Given the description of an element on the screen output the (x, y) to click on. 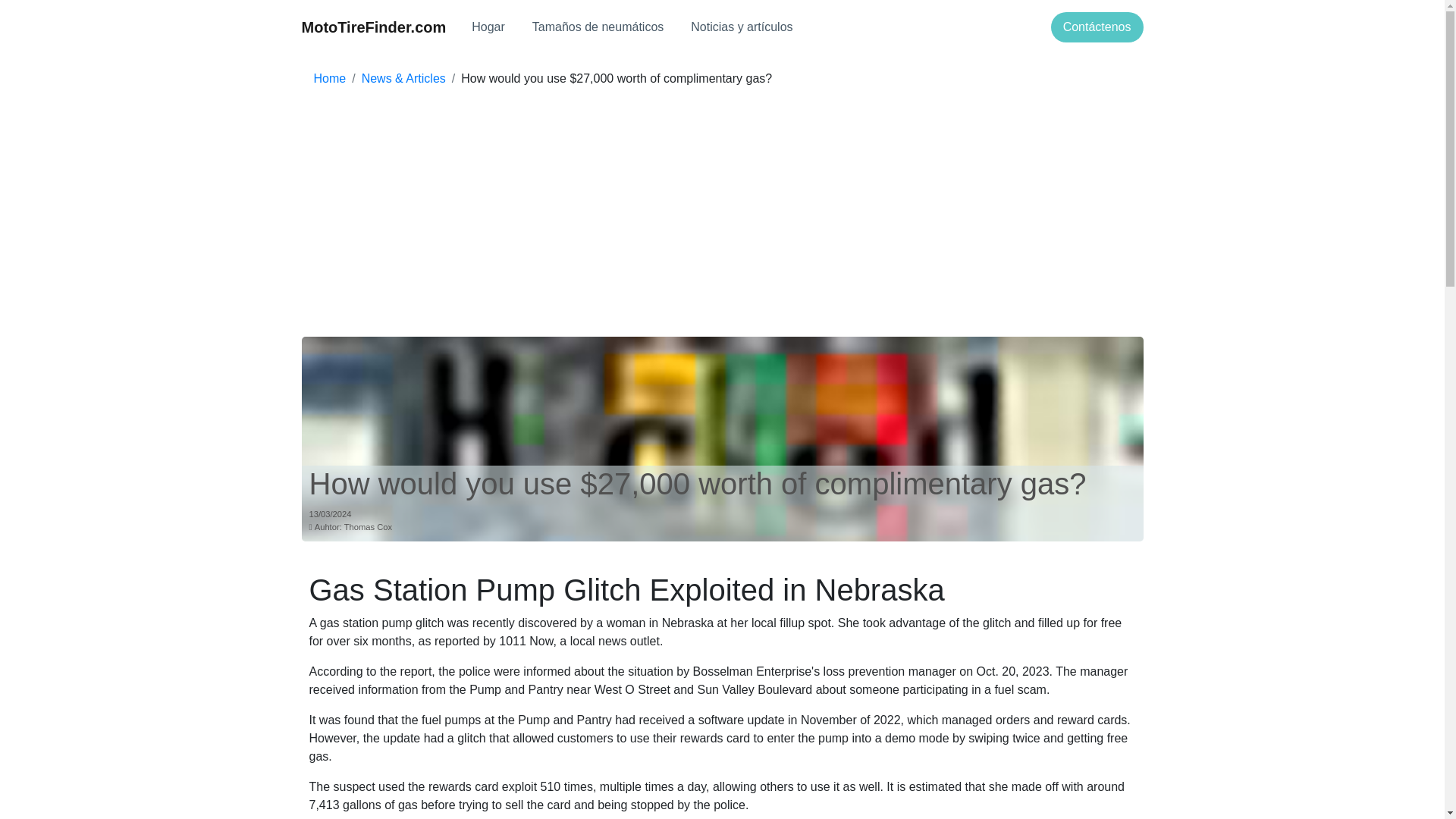
MotoTireFinder.com (373, 27)
Hogar (488, 27)
Home (330, 78)
